Given the description of an element on the screen output the (x, y) to click on. 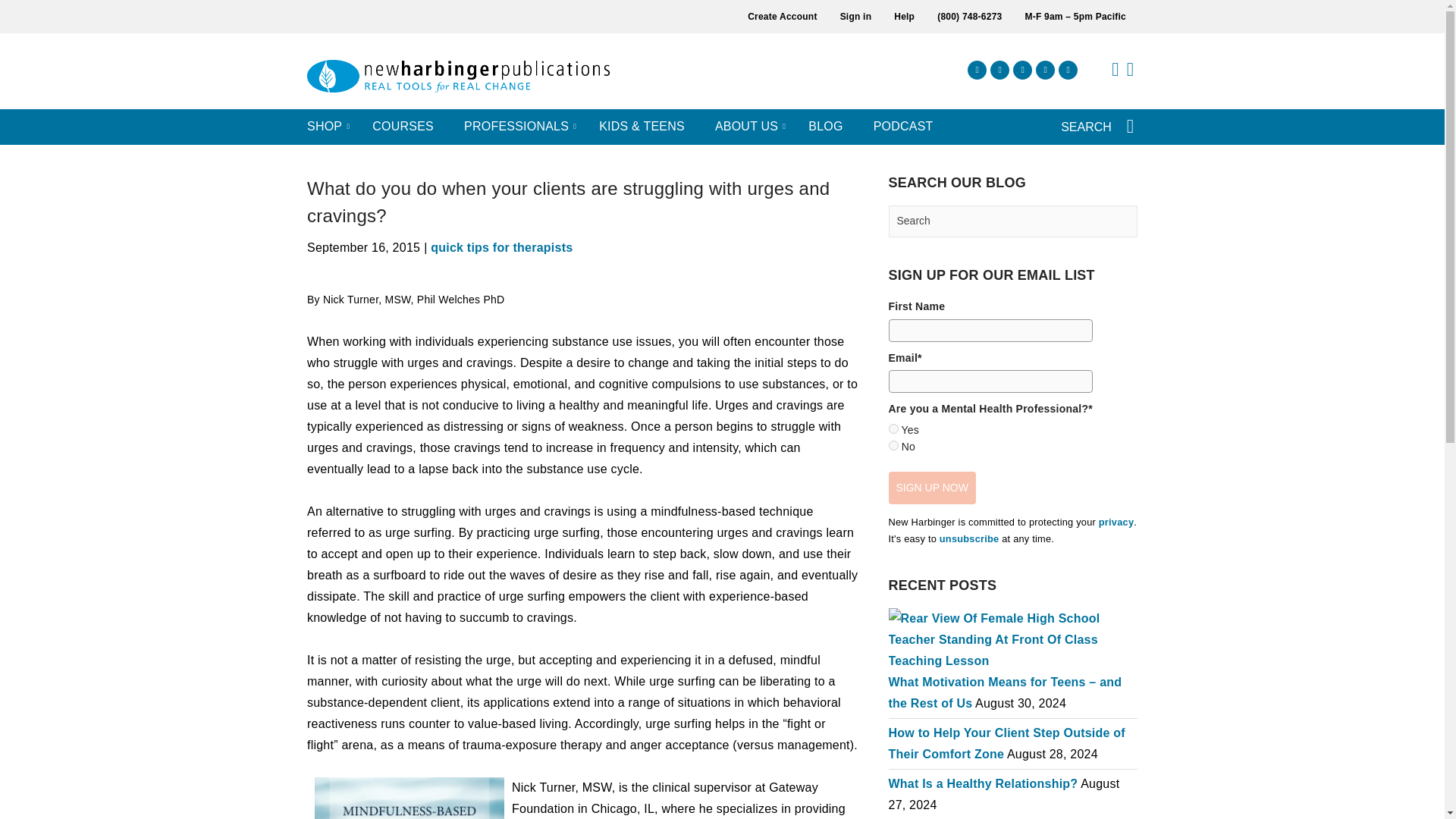
No (893, 445)
Create Account (782, 16)
Yes (893, 429)
Follow us on YouTube (1067, 69)
COURSES (402, 126)
Follow us on Instagram (999, 69)
Search (1013, 221)
SHOP (324, 126)
Follow us on LinkedIn (1044, 69)
Sign in (855, 16)
